Given the description of an element on the screen output the (x, y) to click on. 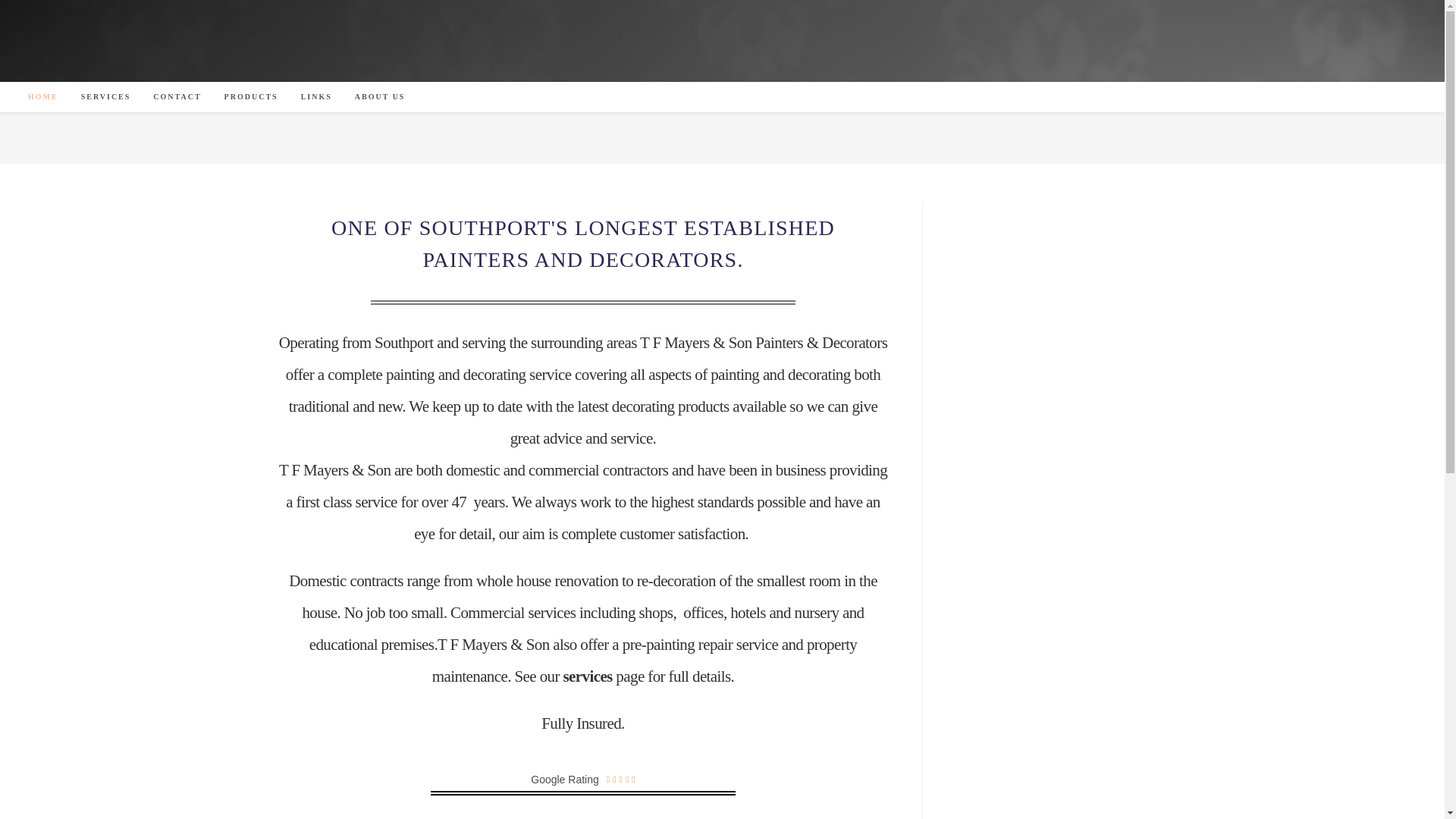
services (587, 676)
ABOUT US (379, 96)
HOME (42, 96)
SERVICES (105, 96)
CONTACT (176, 96)
PRODUCTS (250, 96)
LINKS (316, 96)
